Given the description of an element on the screen output the (x, y) to click on. 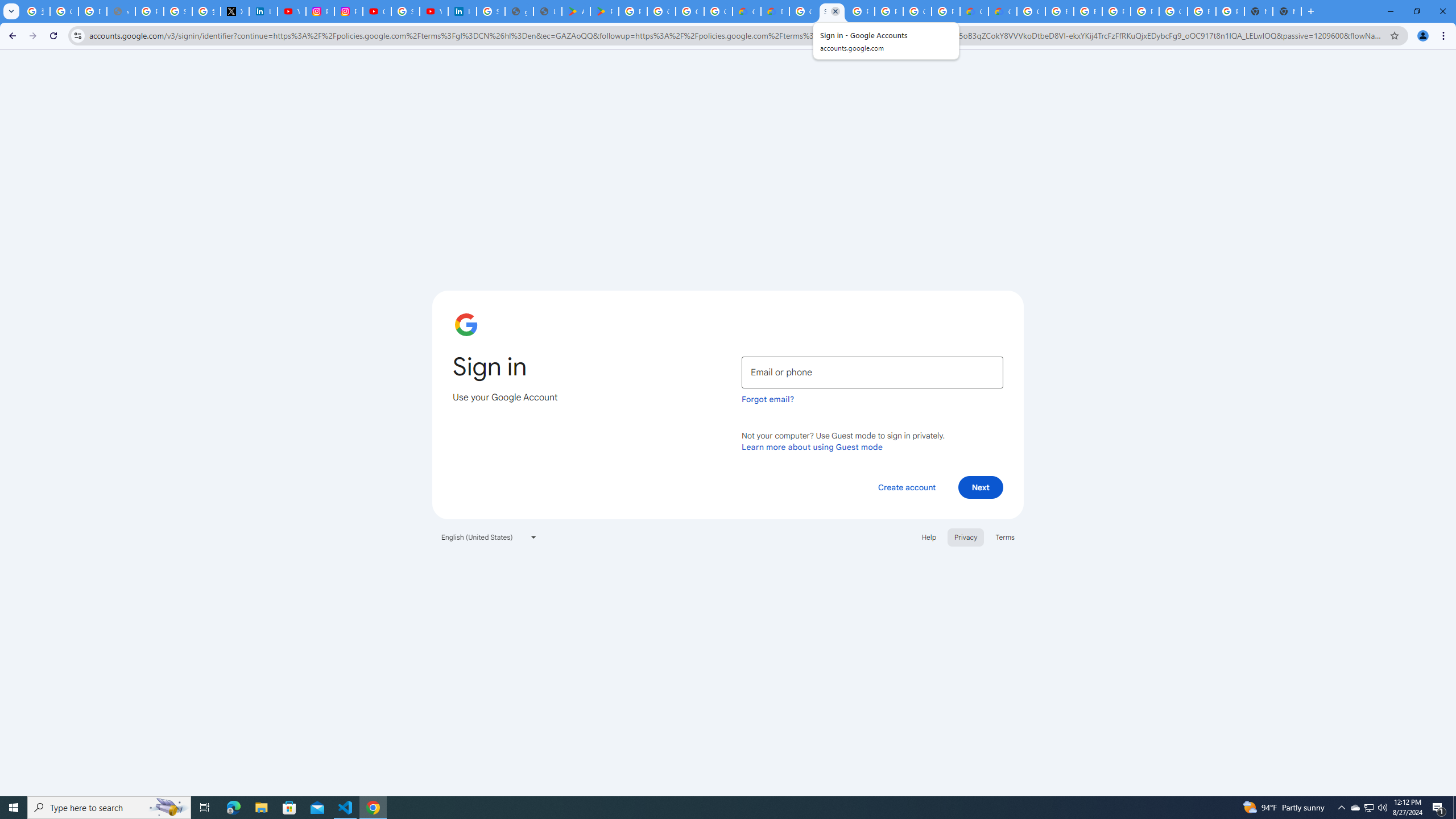
PAW Patrol Rescue World - Apps on Google Play (604, 11)
Google Workspace - Specific Terms (718, 11)
Android Apps on Google Play (575, 11)
support.google.com - Network error (120, 11)
Google Cloud Platform (917, 11)
